Given the description of an element on the screen output the (x, y) to click on. 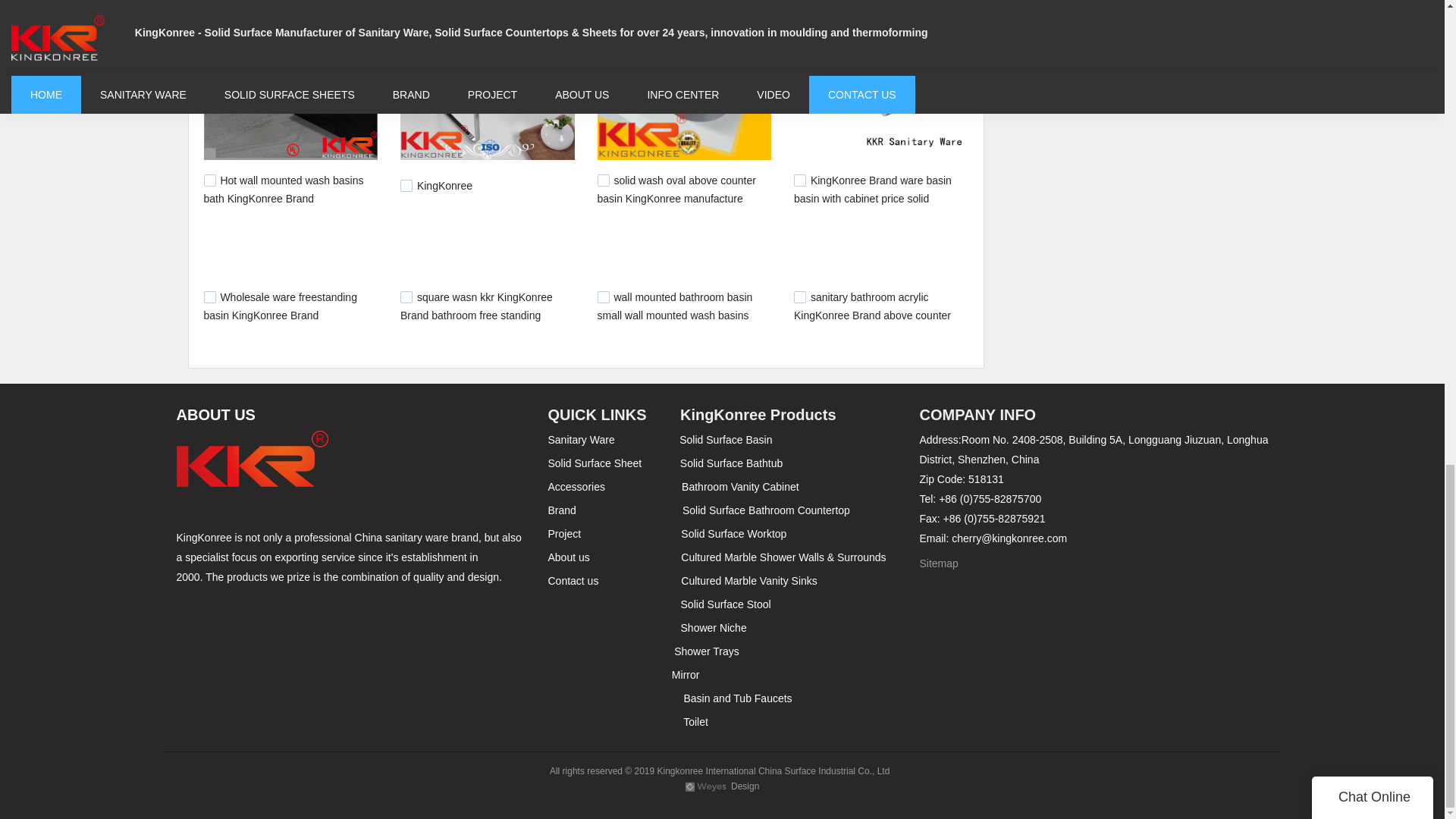
674 (799, 180)
655 (406, 297)
672 (209, 297)
604 (799, 297)
684 (603, 180)
Wholesale ware freestanding basin KingKonree Brand (279, 306)
754 (209, 180)
